Given the description of an element on the screen output the (x, y) to click on. 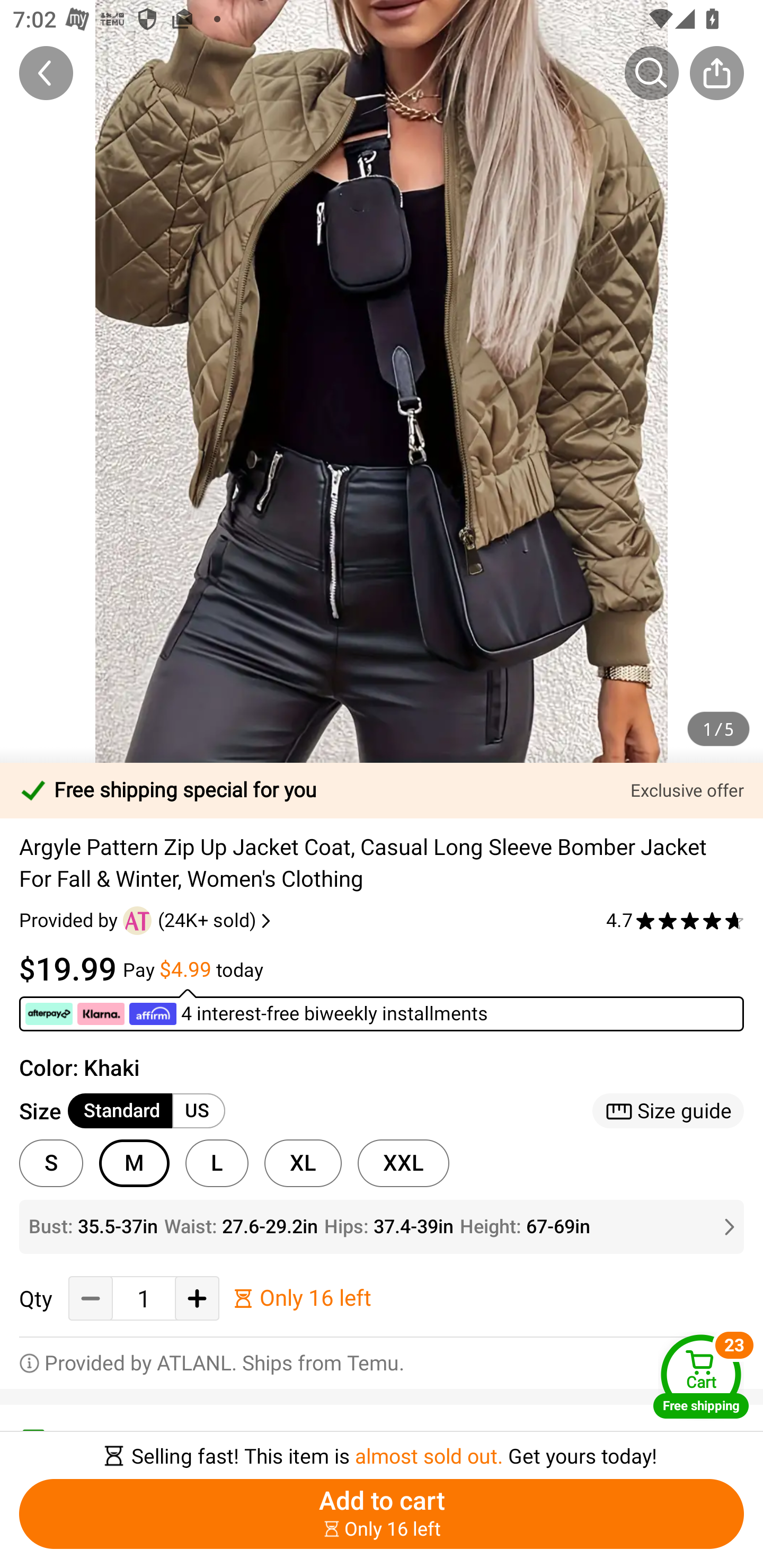
Back (46, 72)
Share (716, 72)
Free shipping special for you Exclusive offer (381, 790)
By null(24K+ sold) Provided by  (24K+ sold) (147, 920)
Provided by  (70, 920)
4.7 (674, 920)
￼ ￼ ￼ 4 interest-free biweekly installments (381, 1009)
Standard (120, 1110)
US (198, 1110)
 Size guide (667, 1110)
S (51, 1162)
M (134, 1162)
L (216, 1162)
XL (302, 1162)
XXL (403, 1162)
Decrease Quantity Button (90, 1298)
Add Quantity button (196, 1298)
1 (143, 1298)
Cart Free shipping Cart (701, 1375)
Add to cart ￼￼Only 16 left (381, 1513)
